Given the description of an element on the screen output the (x, y) to click on. 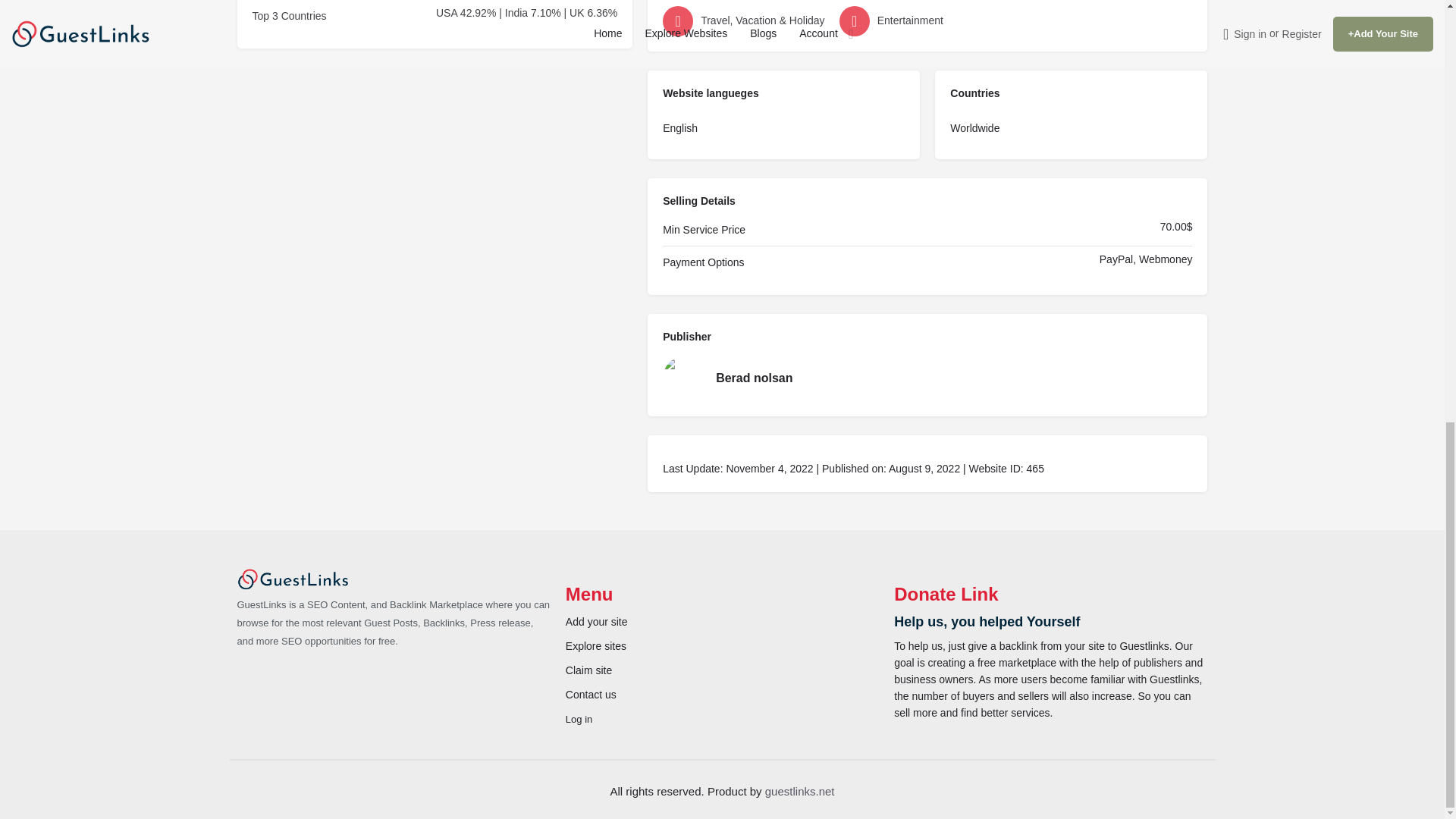
Entertainment (924, 20)
Berad nolsan (927, 378)
Log in (579, 718)
guestlinks.net (799, 790)
